Given the description of an element on the screen output the (x, y) to click on. 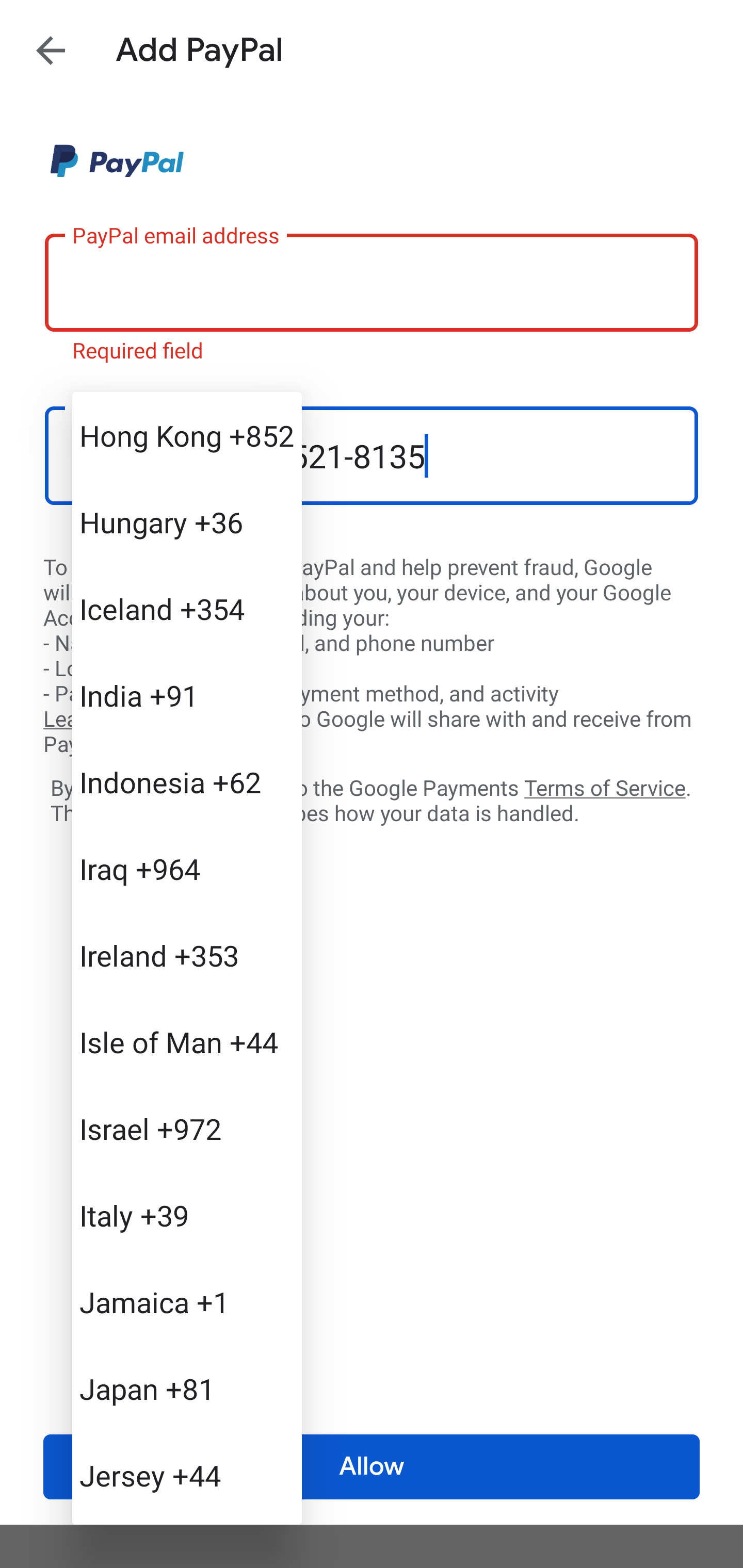
Hong Kong +852 (186, 435)
Hungary +36 (186, 522)
Iceland +354 (186, 609)
India +91 (186, 695)
Indonesia +62 (186, 781)
Iraq +964 (186, 868)
Ireland +353 (186, 955)
Isle of Man +44 (186, 1041)
Israel +972 (186, 1128)
Italy +39 (186, 1215)
Jamaica +1 (186, 1302)
Japan +81 (186, 1388)
Jersey +44 (186, 1474)
